Given the description of an element on the screen output the (x, y) to click on. 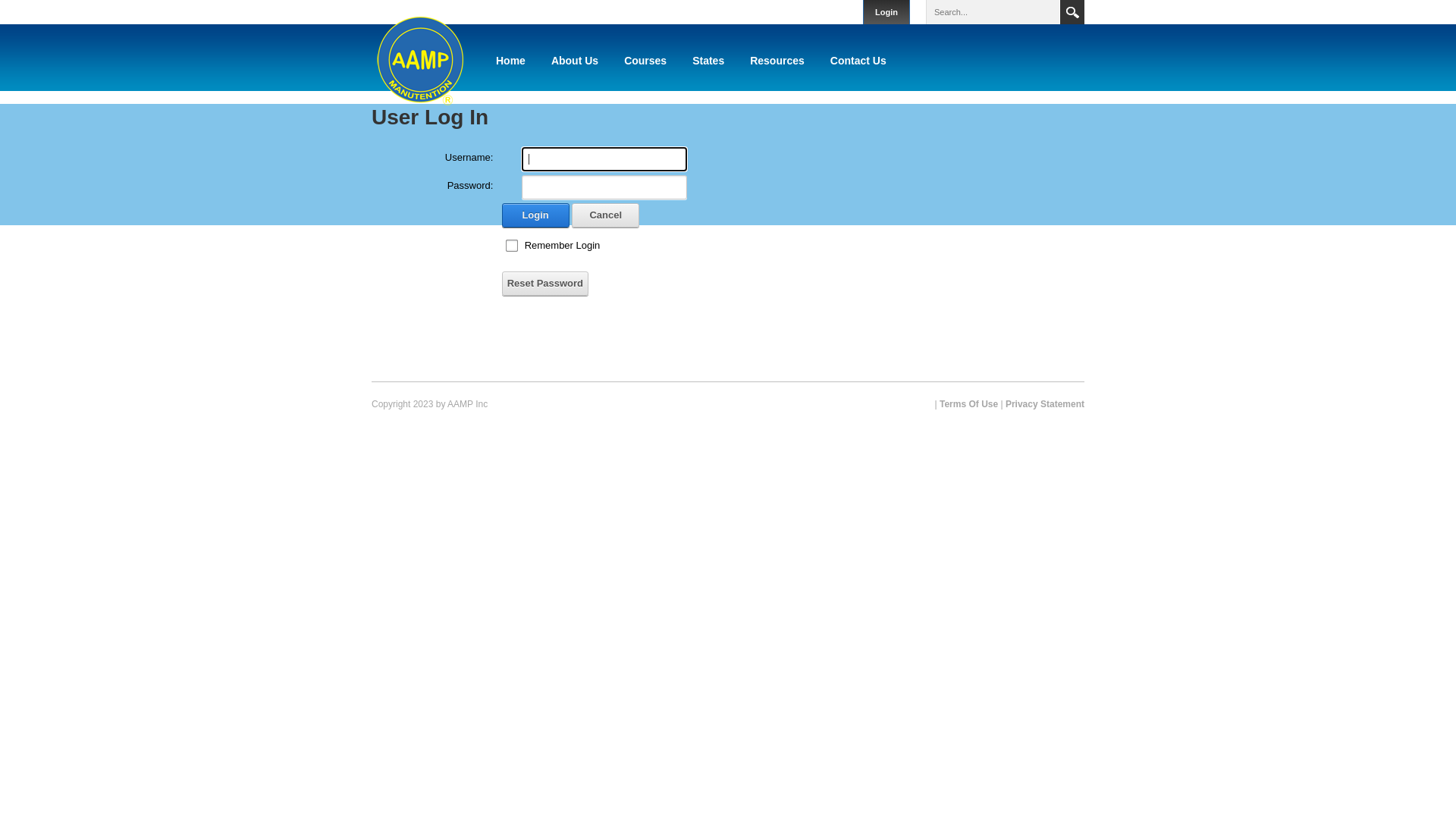
Search Element type: text (1072, 12)
Clear search text Element type: hover (1045, 11)
Login Element type: text (886, 12)
Terms Of Use Element type: text (968, 403)
About Us Element type: text (574, 60)
Privacy Statement Element type: text (1044, 403)
Resources Element type: text (776, 60)
Cancel Element type: text (605, 215)
Australian Association of Manutention Practitioners  Element type: hover (420, 57)
Courses Element type: text (644, 60)
States Element type: text (707, 60)
Contact Us Element type: text (858, 60)
Home Element type: text (510, 60)
Login Element type: text (535, 215)
Reset Password Element type: text (545, 283)
